Given the description of an element on the screen output the (x, y) to click on. 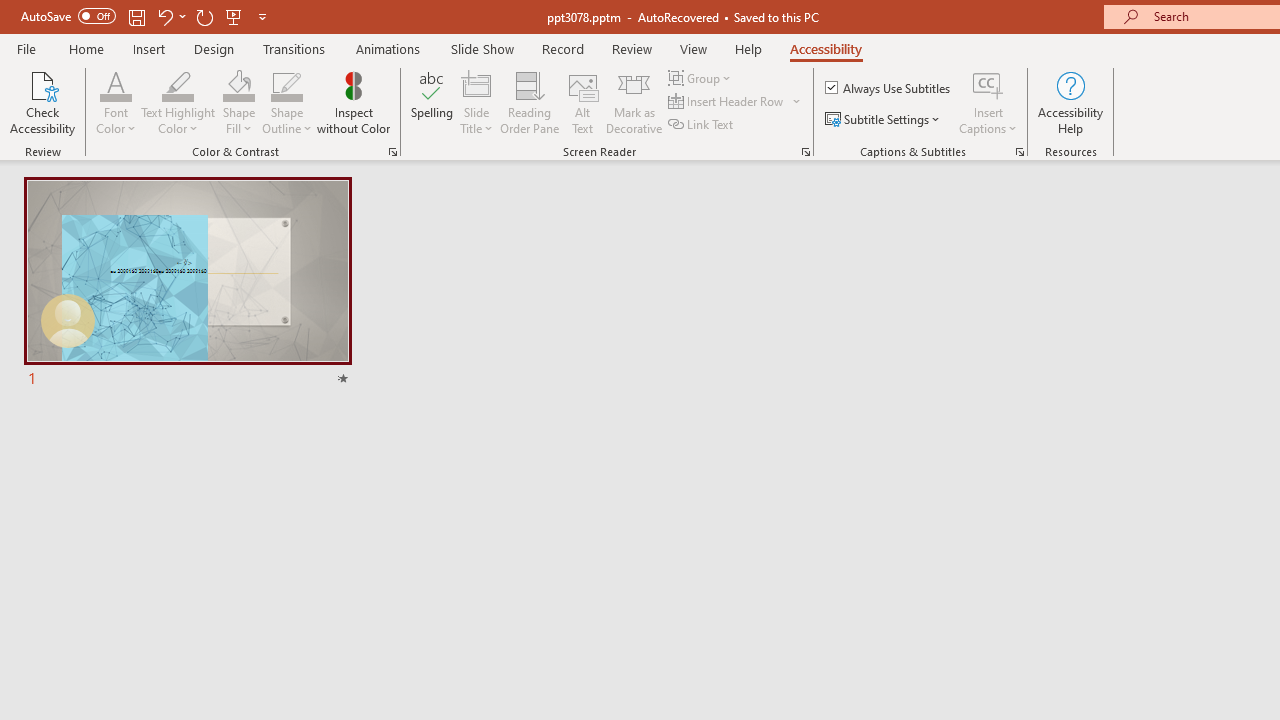
Reading Order Pane (529, 102)
Inspect without Color (353, 102)
